Given the description of an element on the screen output the (x, y) to click on. 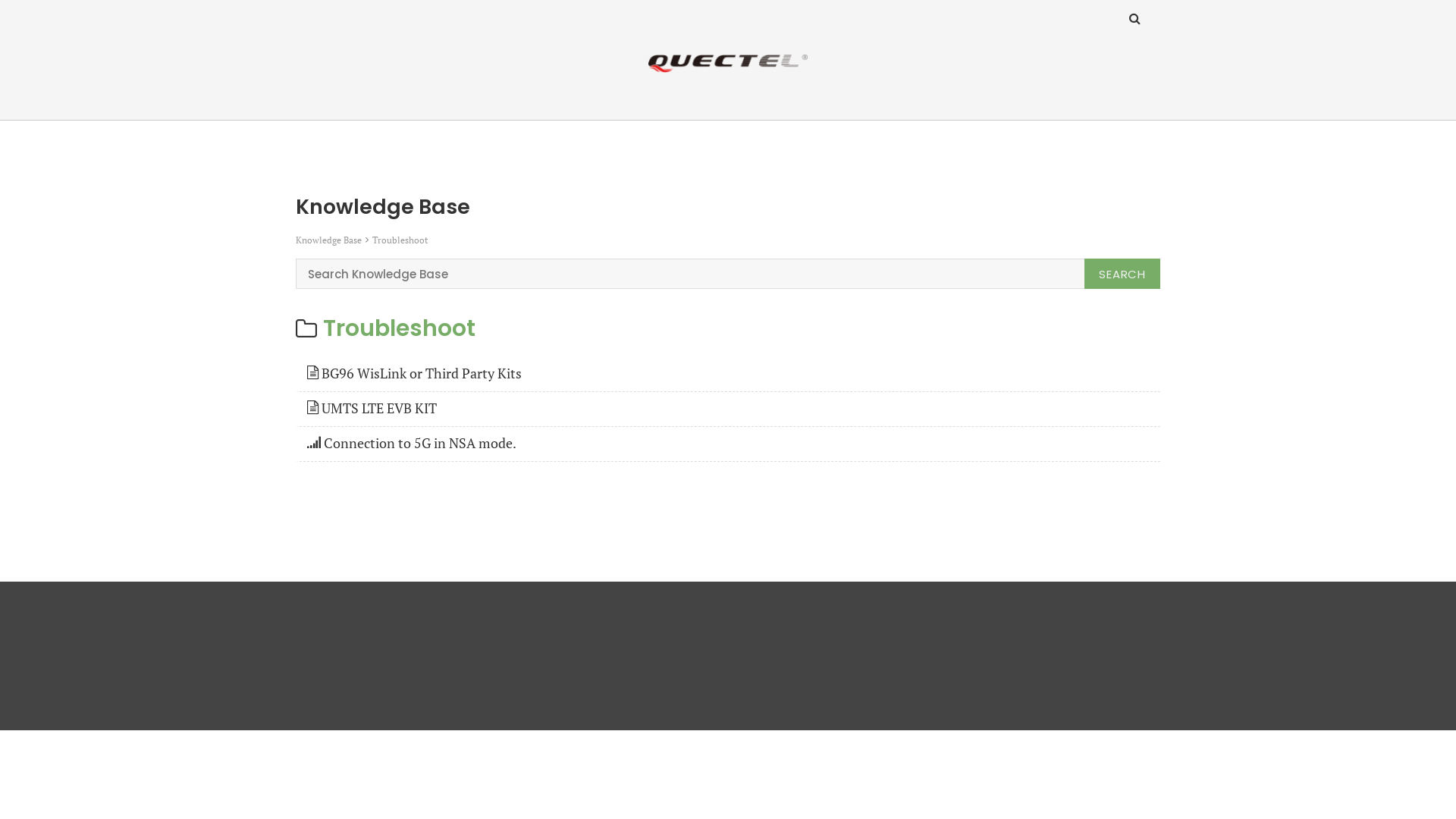
Troubleshoot Element type: text (399, 328)
Connection to 5G in NSA mode. Element type: text (729, 442)
Knowledge Base Element type: text (328, 239)
Search Element type: text (1122, 273)
UMTS LTE EVB KIT Element type: text (729, 407)
ANZ Team Element type: text (104, 111)
BG96 WisLink or Third Party Kits Element type: text (729, 372)
Troubleshoot Element type: text (399, 239)
